Given the description of an element on the screen output the (x, y) to click on. 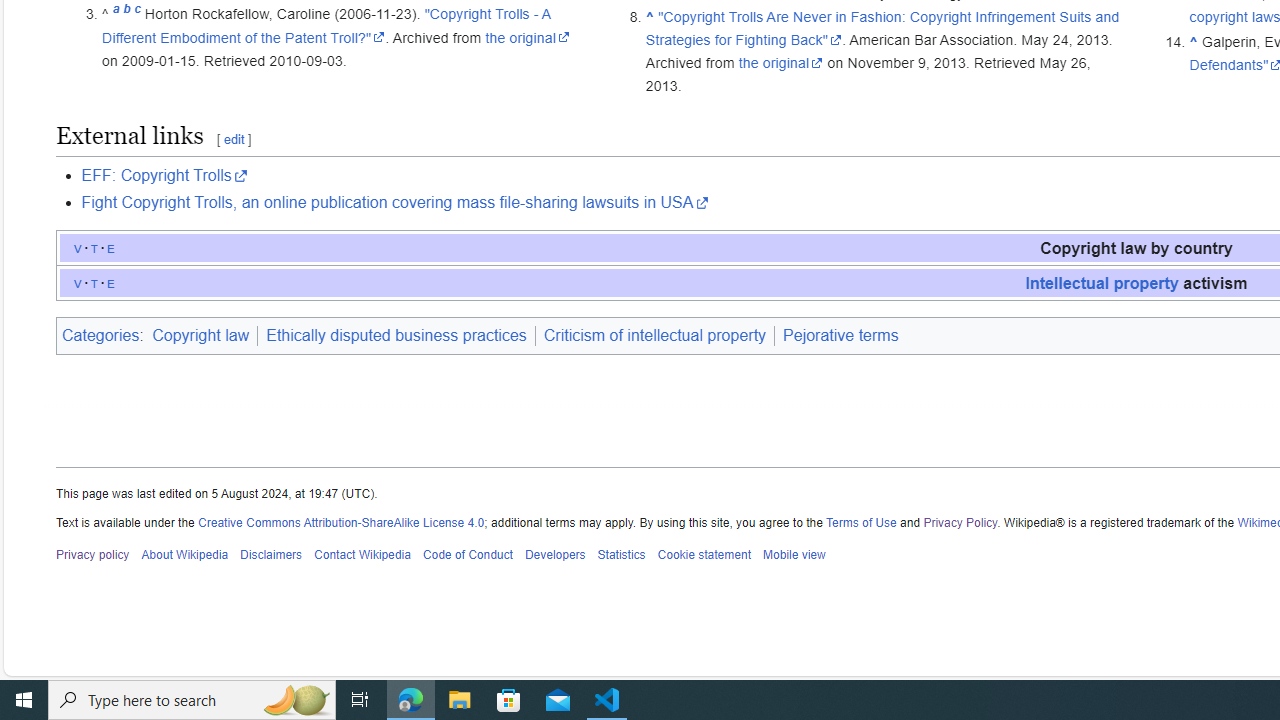
Statistics (621, 555)
Privacy Policy (960, 521)
Developers (554, 555)
Cookie statement (703, 555)
Cookie statement (703, 555)
Terms of Use (861, 521)
Privacy policy (93, 555)
About Wikipedia (184, 555)
Code of Conduct (467, 555)
Statistics (621, 555)
Pejorative terms (840, 336)
